Given the description of an element on the screen output the (x, y) to click on. 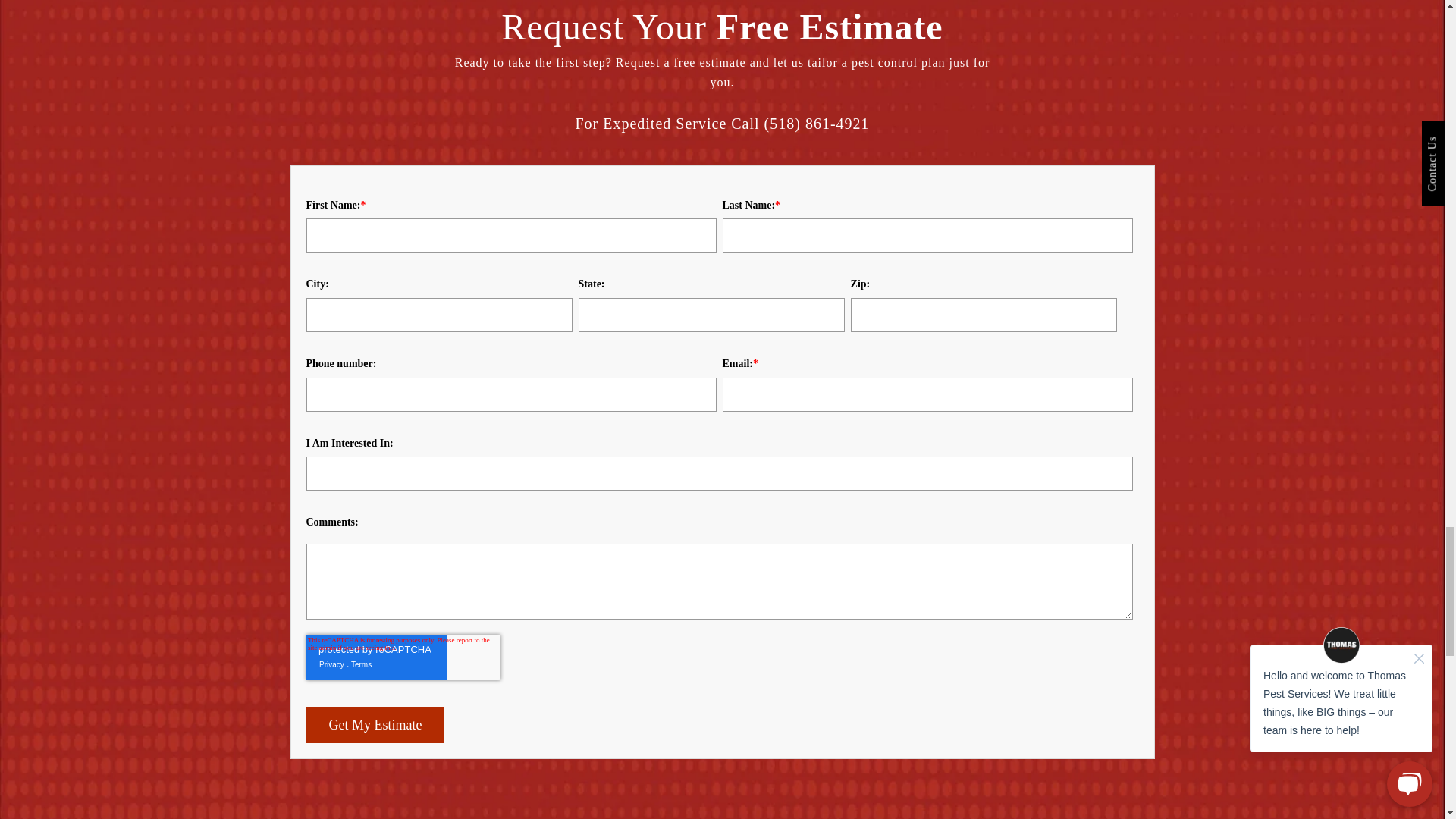
reCAPTCHA (402, 657)
Get My Estimate (375, 724)
